Given the description of an element on the screen output the (x, y) to click on. 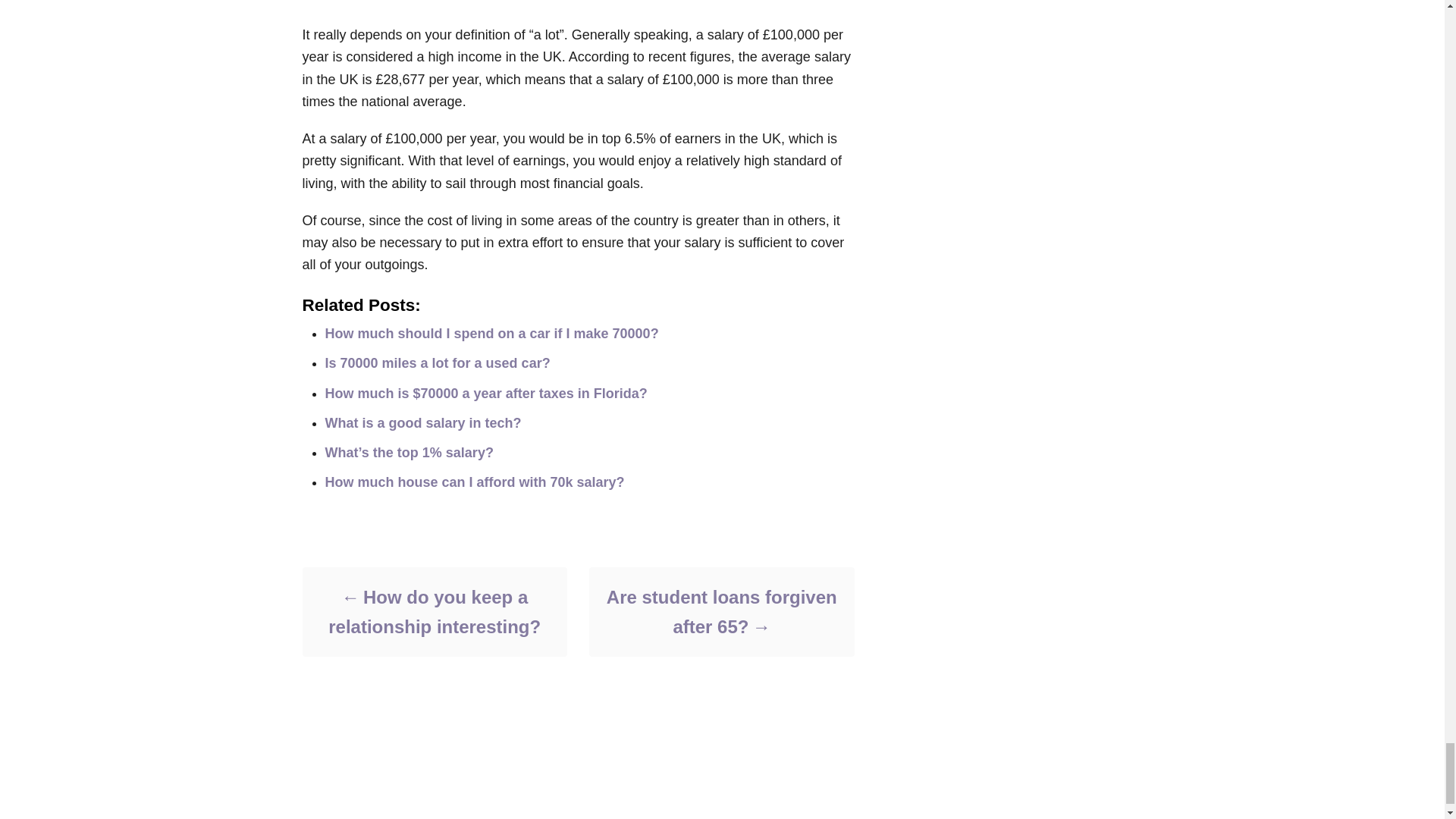
Is 70000 miles a lot for a used car? (437, 363)
Are student loans forgiven after 65? (721, 611)
How much house can I afford with 70k salary? (474, 482)
What is a good salary in tech? (422, 422)
How do you keep a relationship interesting? (434, 611)
How much should I spend on a car if I make 70000? (491, 333)
